Given the description of an element on the screen output the (x, y) to click on. 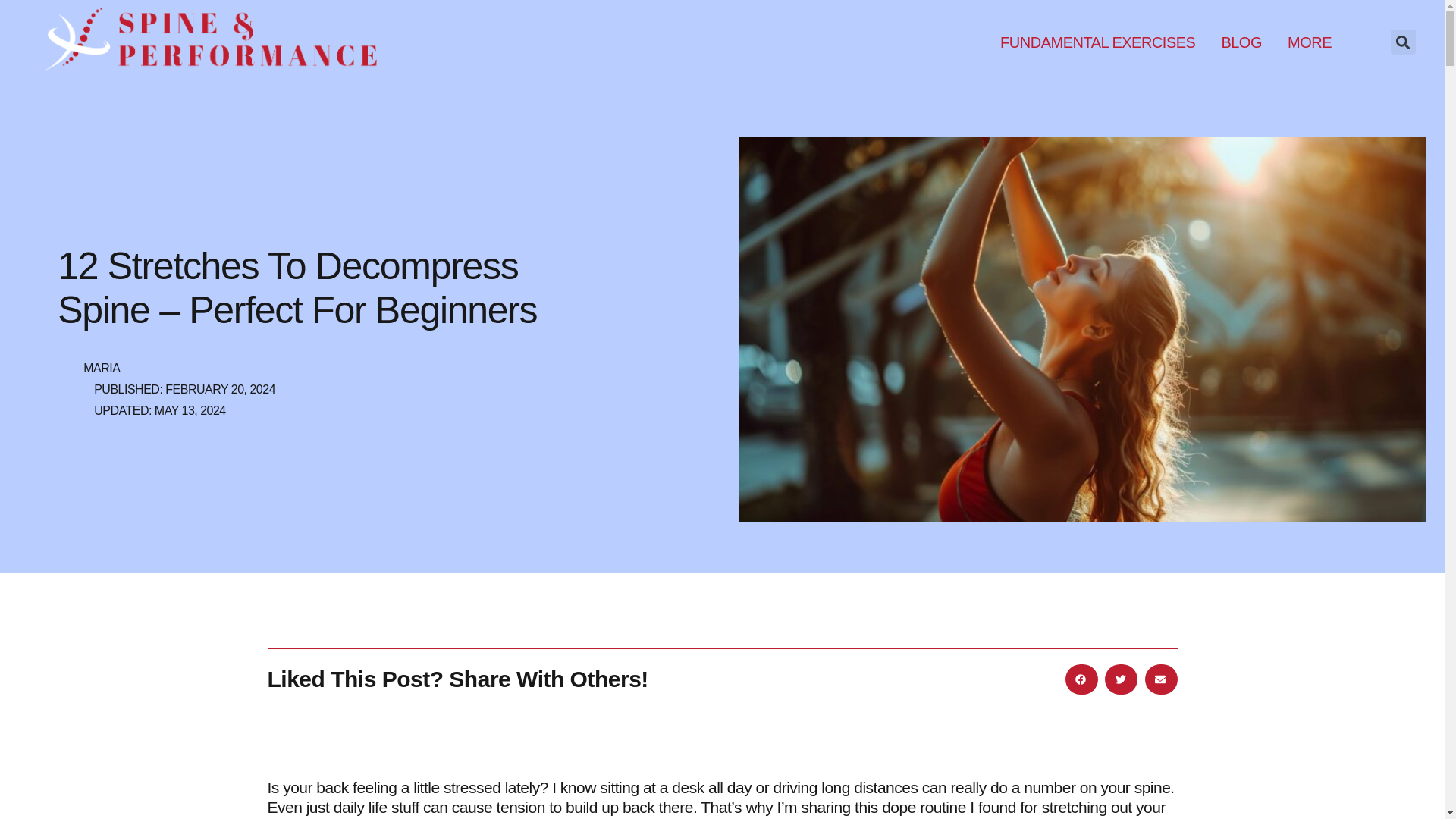
BLOG (1241, 41)
MORE (1309, 41)
FUNDAMENTAL EXERCISES (1097, 41)
